Given the description of an element on the screen output the (x, y) to click on. 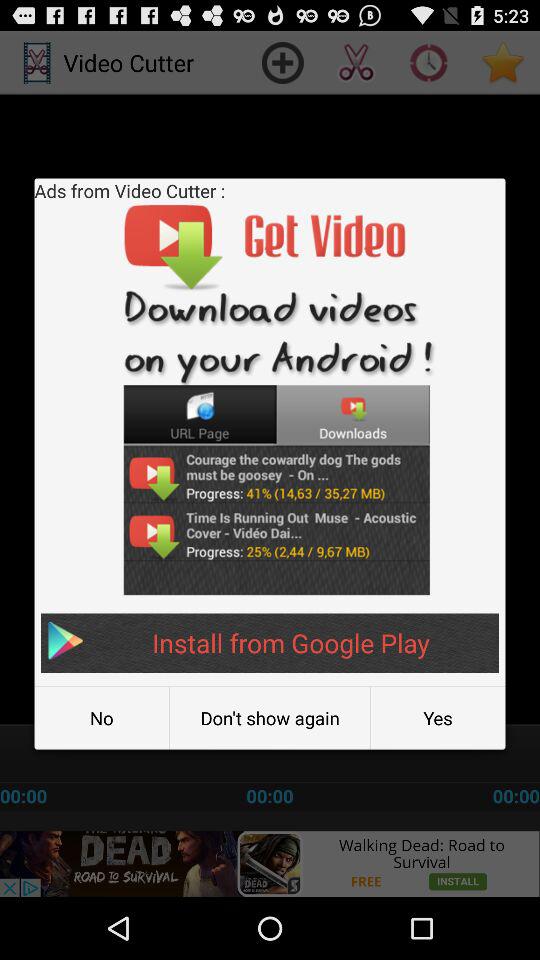
open the item next to the no button (269, 717)
